Given the description of an element on the screen output the (x, y) to click on. 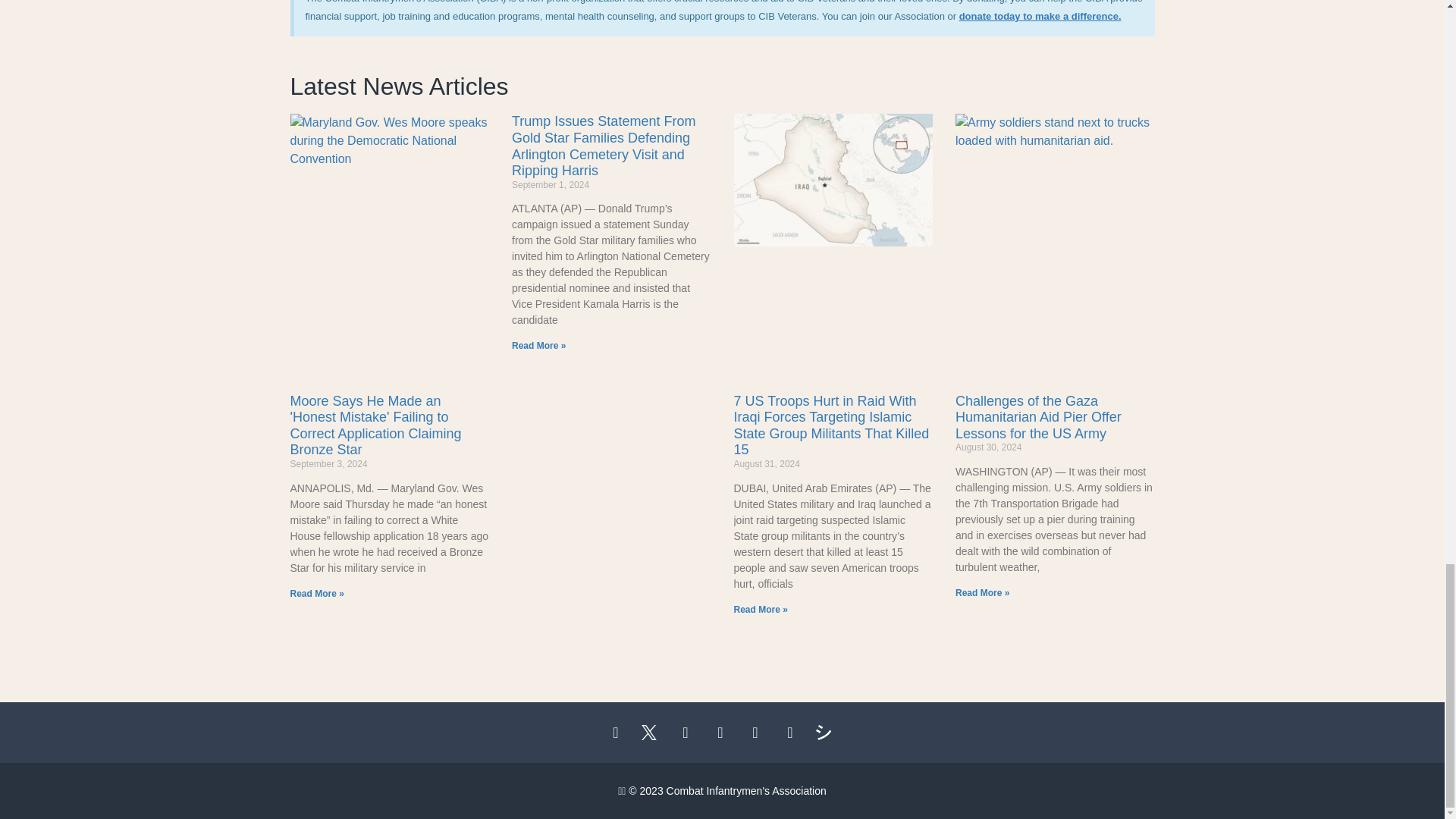
Developer Jarvis Media Group (826, 732)
Combat Infantrymen's Association On Facebook (617, 732)
Combat Infantrymen's Association On Twitter (652, 732)
Combat Infantrymen's Association On Instagram (687, 732)
Combat Infantrymen's Association On Linkedin (756, 732)
Combat Infantrymen's Association On Youtube (791, 732)
Combat Infantrymen's Association On Google (722, 732)
